Given the description of an element on the screen output the (x, y) to click on. 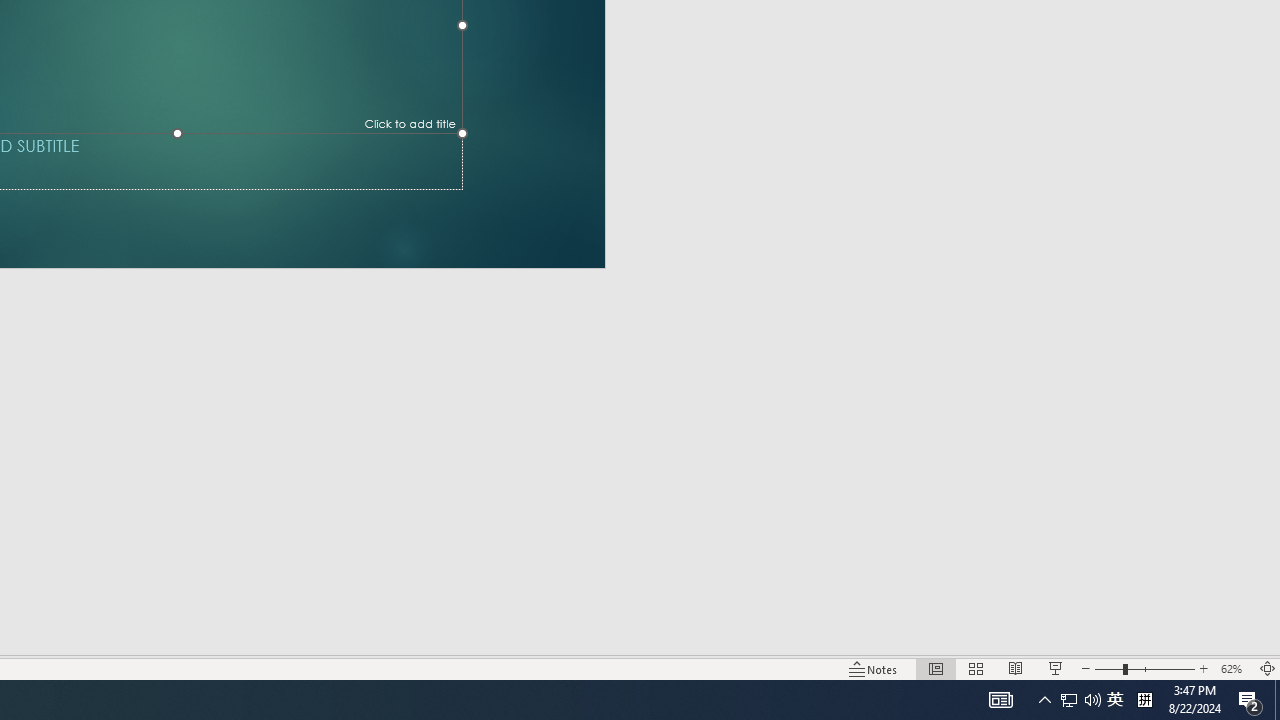
Zoom 62% (1234, 668)
